Given the description of an element on the screen output the (x, y) to click on. 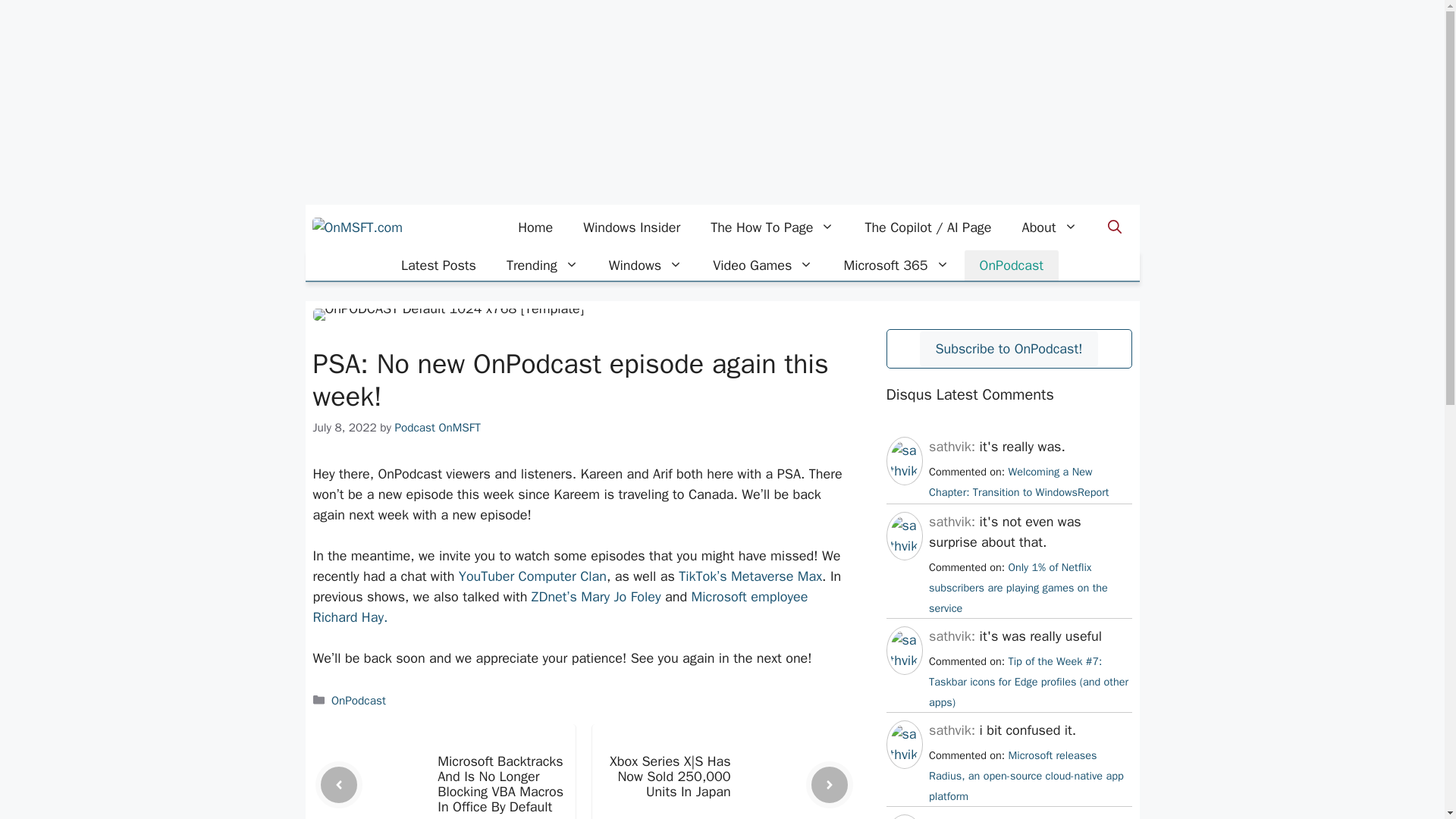
sathvik (904, 470)
Video Games (762, 265)
About (1050, 227)
July 8, 2024 (1028, 681)
Home (534, 227)
June 15, 2024 (1026, 775)
July 24, 2024 (1018, 481)
The How To Page (771, 227)
Windows (645, 265)
sathvik (904, 545)
Windows Insider (631, 227)
July 11, 2024 (1018, 587)
View all posts by Podcast OnMSFT (437, 427)
